Given the description of an element on the screen output the (x, y) to click on. 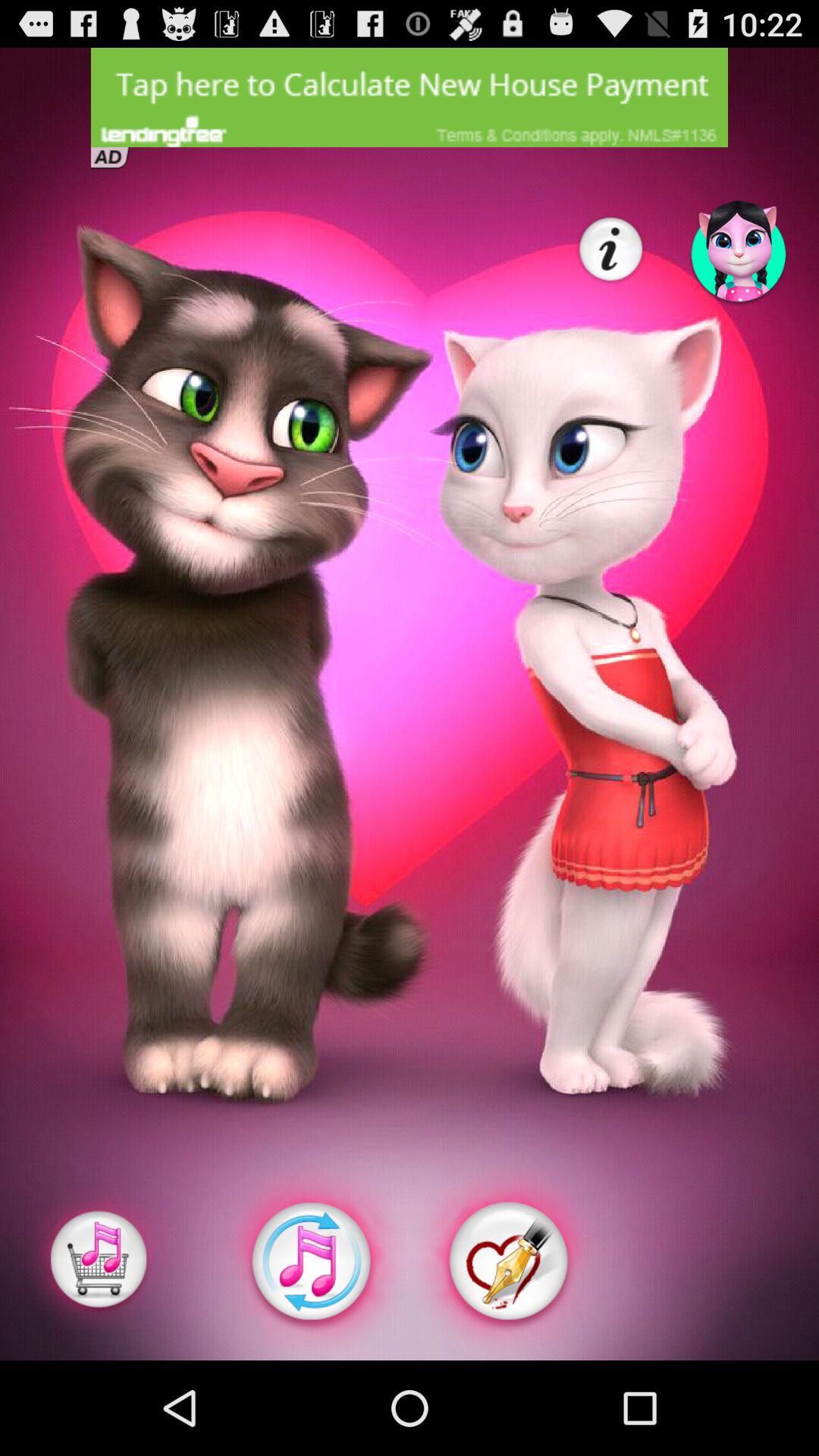
play sound (310, 1261)
